Given the description of an element on the screen output the (x, y) to click on. 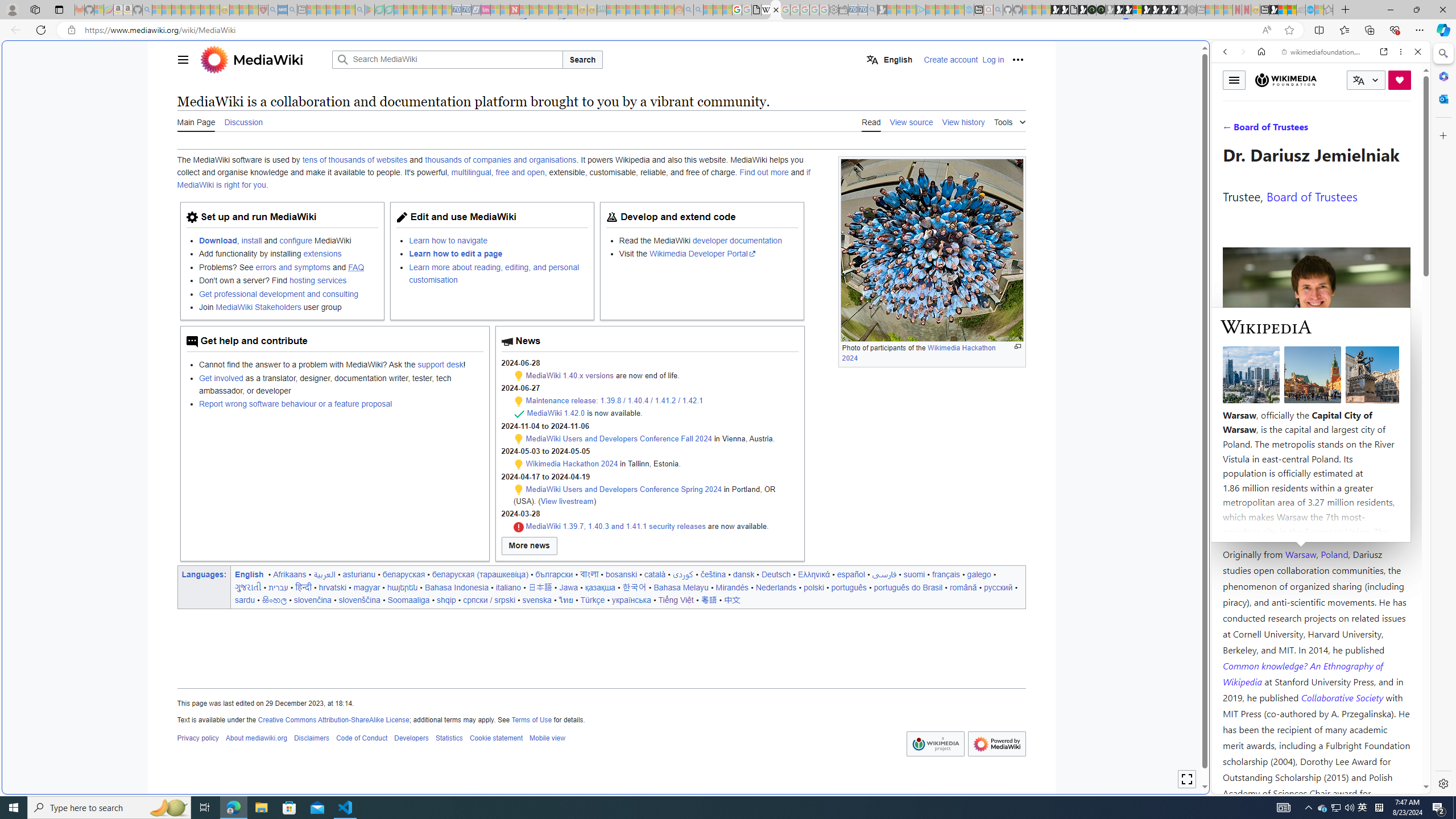
Problems? See errors and symptoms and FAQ (288, 266)
italiano (508, 587)
FAQ (355, 266)
polski (813, 587)
galego (978, 574)
developer documentation (736, 239)
MediaWiki 1.40.x versions (568, 375)
